Given the description of an element on the screen output the (x, y) to click on. 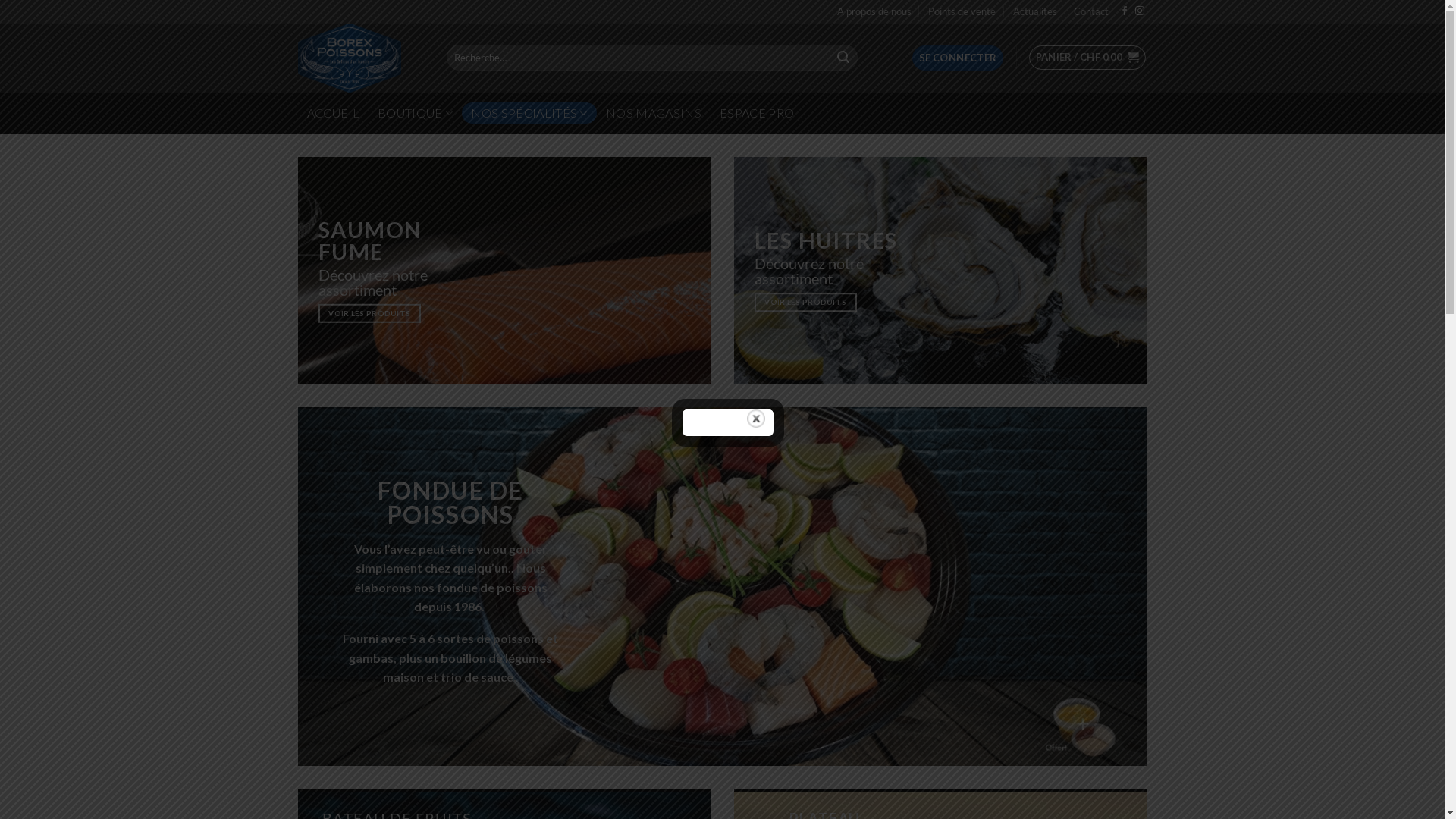
ESPACE PRO Element type: text (756, 112)
VOIR LES PRODUITS Element type: text (369, 313)
VOIR LES PRODUITS Element type: text (805, 301)
PANIER / CHF 0.00 Element type: text (1087, 57)
Nous suivre sur Instagram Element type: hover (1139, 11)
Nous suivre sur Facebook Element type: hover (1124, 11)
Recherche Element type: text (843, 57)
A propos de nous Element type: text (874, 11)
BOUTIQUE Element type: text (414, 112)
Contact Element type: text (1090, 11)
NOS MAGASINS Element type: text (653, 112)
SE CONNECTER Element type: text (958, 57)
Points de vente Element type: text (961, 11)
Fermer Element type: hover (755, 418)
ACCUEIL Element type: text (332, 112)
Borex Poissons Element type: hover (360, 57)
